Given the description of an element on the screen output the (x, y) to click on. 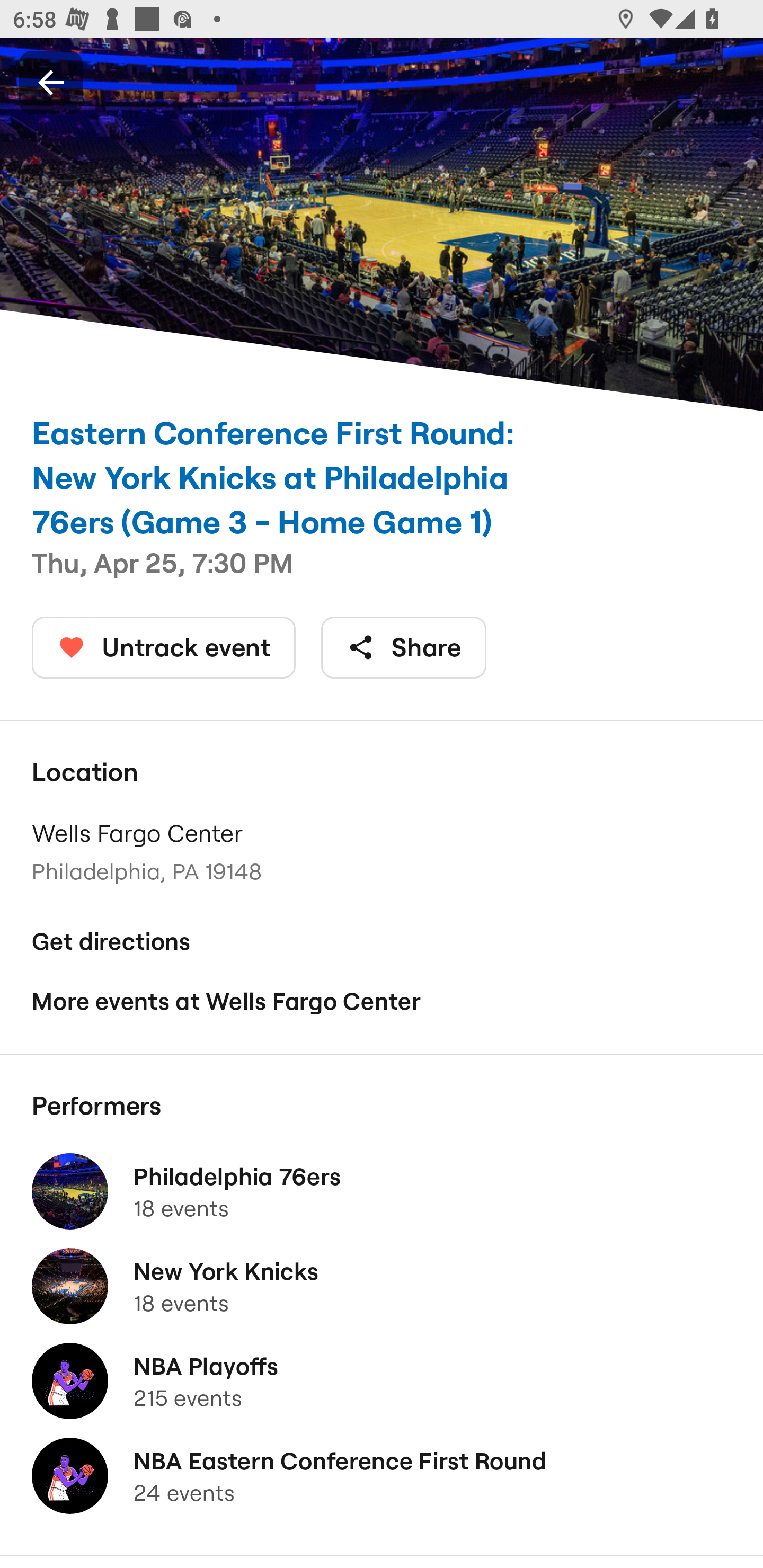
Back (50, 81)
Untrack event (164, 647)
Share (403, 647)
Get directions (381, 941)
More events at Wells Fargo Center (381, 1001)
Philadelphia 76ers 18 events (381, 1191)
New York Knicks 18 events (381, 1286)
NBA Playoffs 215 events (381, 1381)
NBA Eastern Conference First Round 24 events (381, 1476)
